Given the description of an element on the screen output the (x, y) to click on. 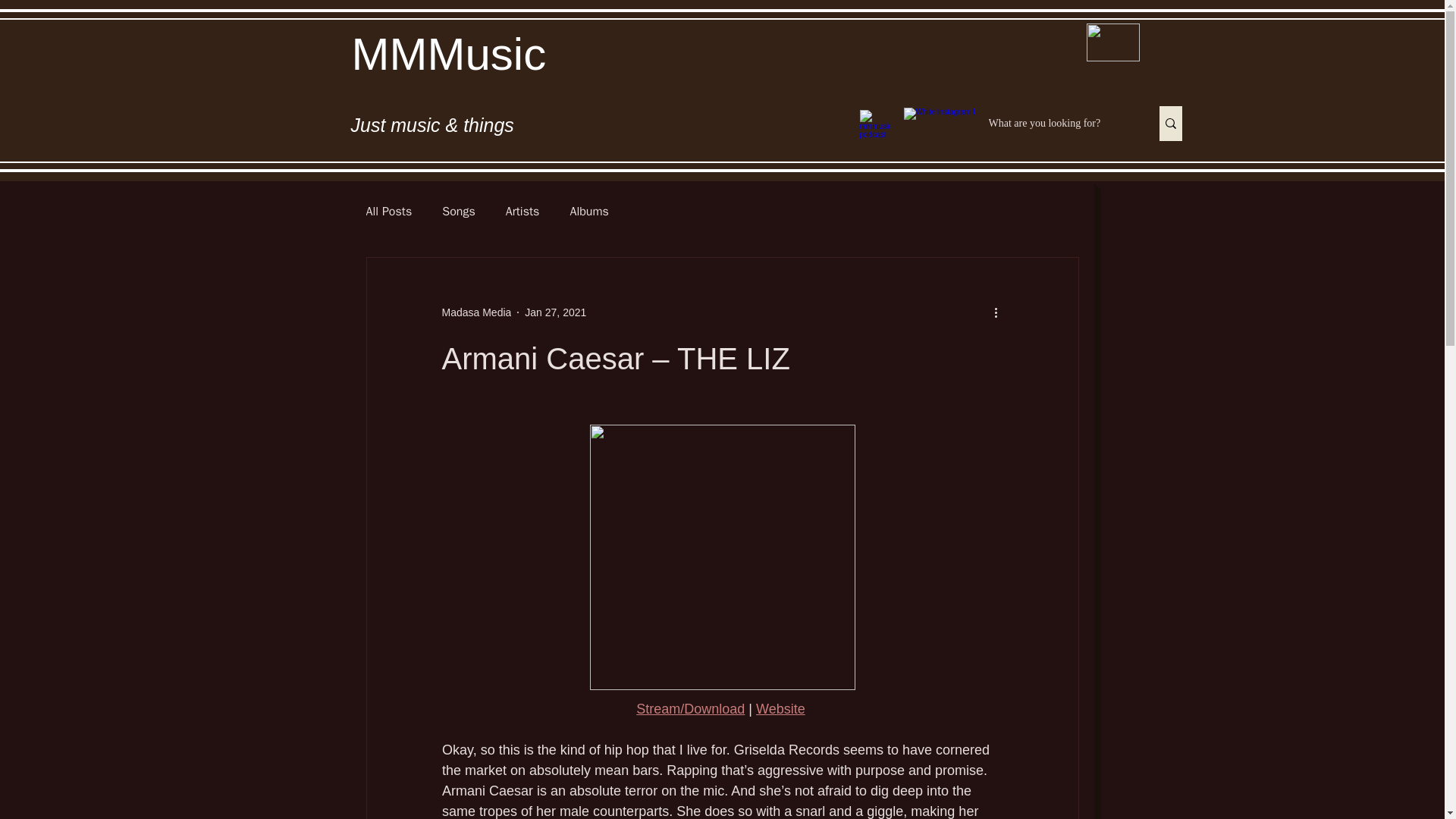
Artists (522, 211)
Jan 27, 2021 (555, 312)
Albums (588, 211)
All Posts (388, 211)
Website (780, 708)
Madasa Media (476, 312)
MMMusic (449, 53)
Songs (458, 211)
